Given the description of an element on the screen output the (x, y) to click on. 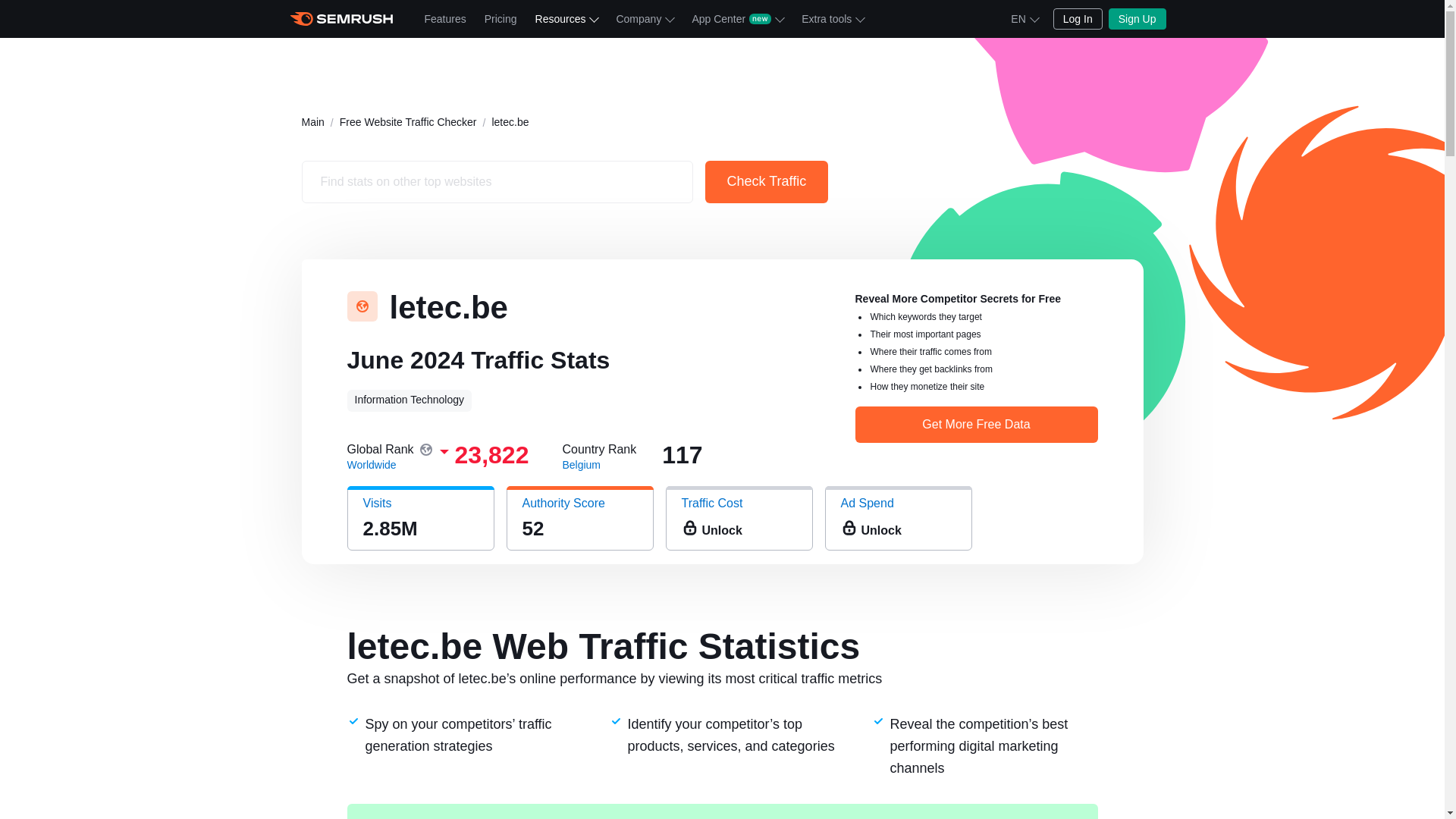
Pricing (500, 18)
Resources (566, 18)
App Center (737, 18)
Company (644, 18)
Features (445, 18)
Extra tools (832, 18)
